Given the description of an element on the screen output the (x, y) to click on. 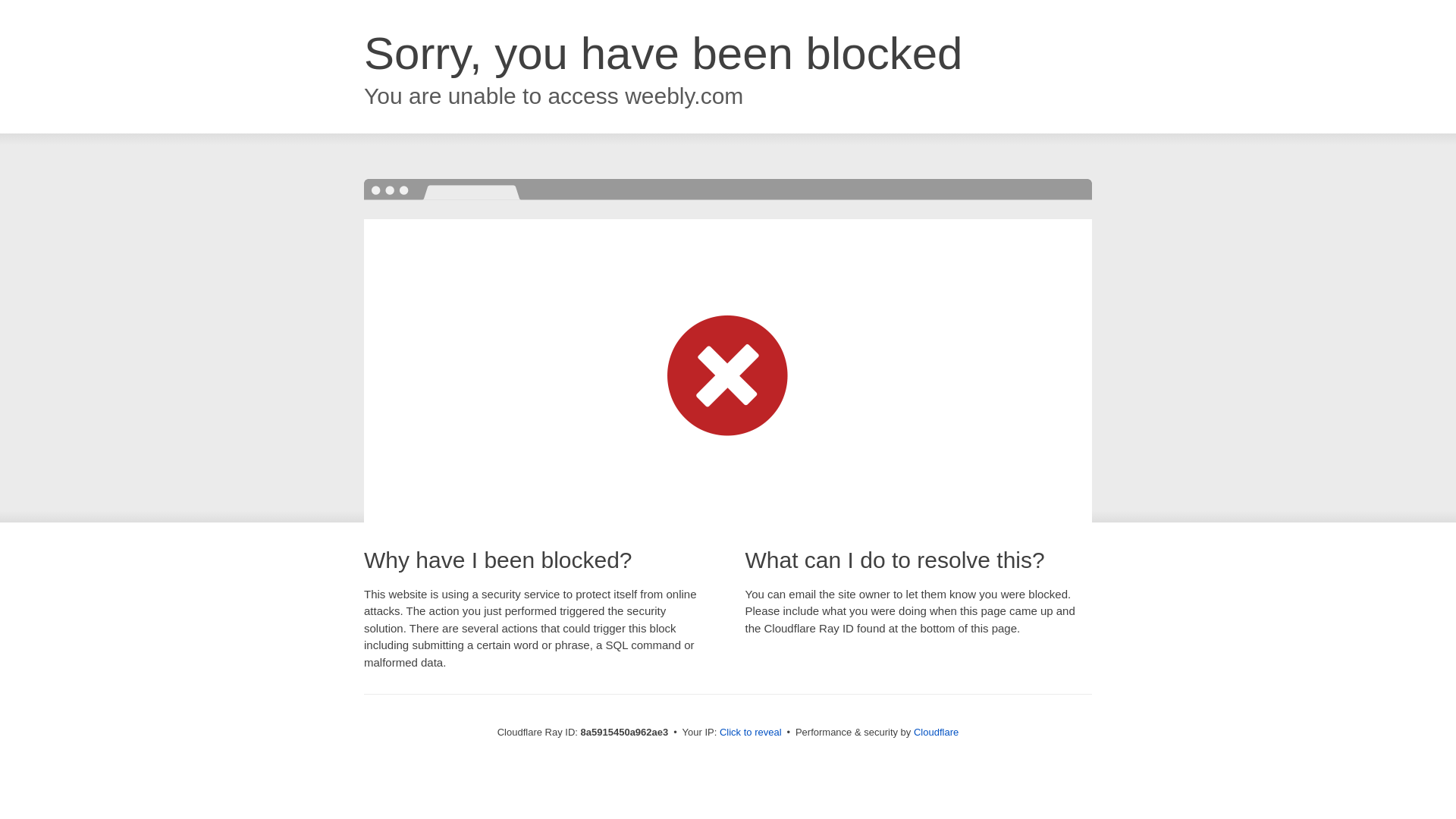
Click to reveal (750, 732)
Cloudflare (936, 731)
